Given the description of an element on the screen output the (x, y) to click on. 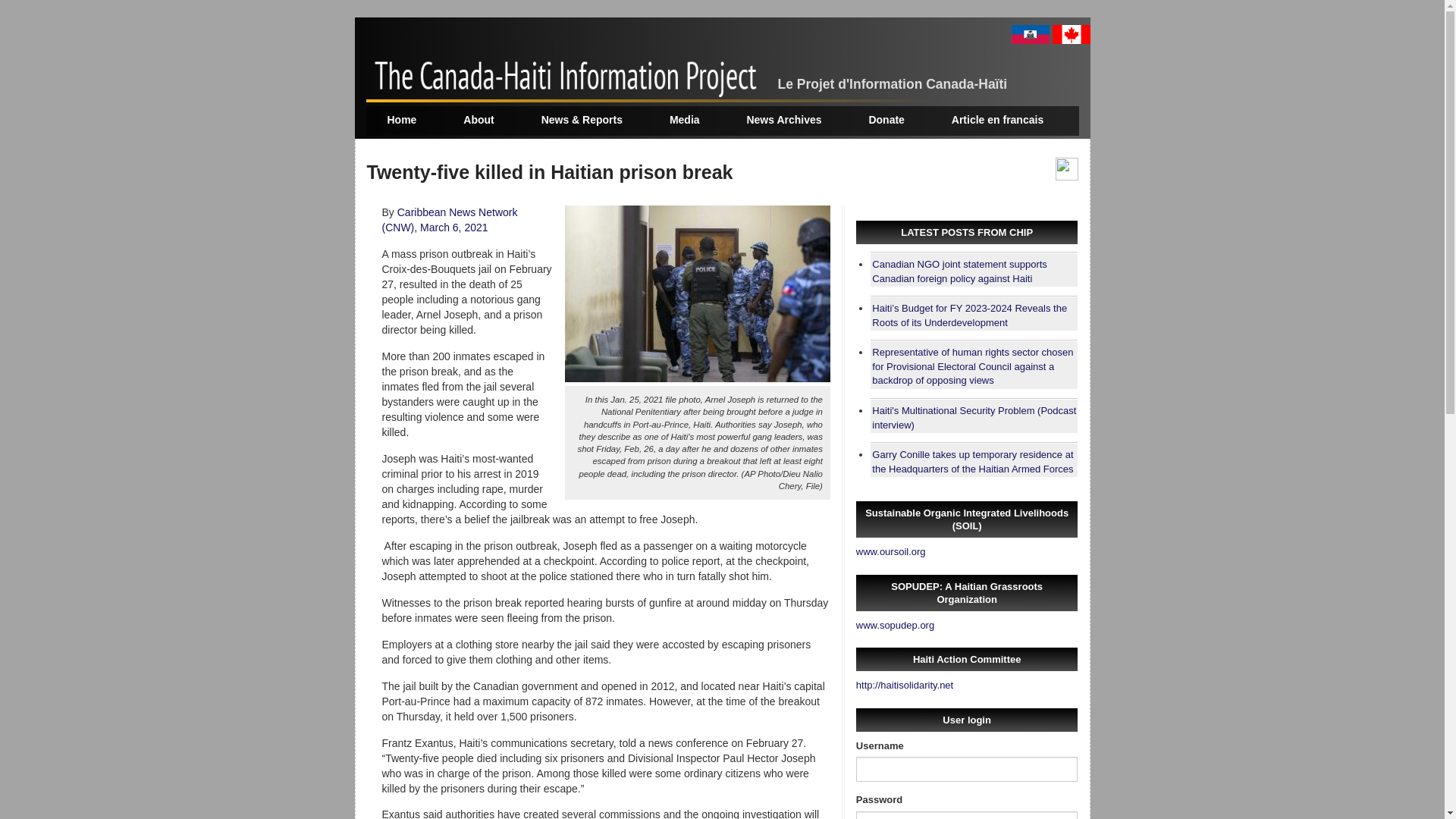
Donate (886, 120)
Home (571, 79)
News Archives (784, 120)
Media Resources Including Books, Videos, CDS and Others (684, 120)
	Latest News Stories from CHAN (582, 120)
Home (402, 120)
Article en francais (997, 120)
About (479, 120)
